Given the description of an element on the screen output the (x, y) to click on. 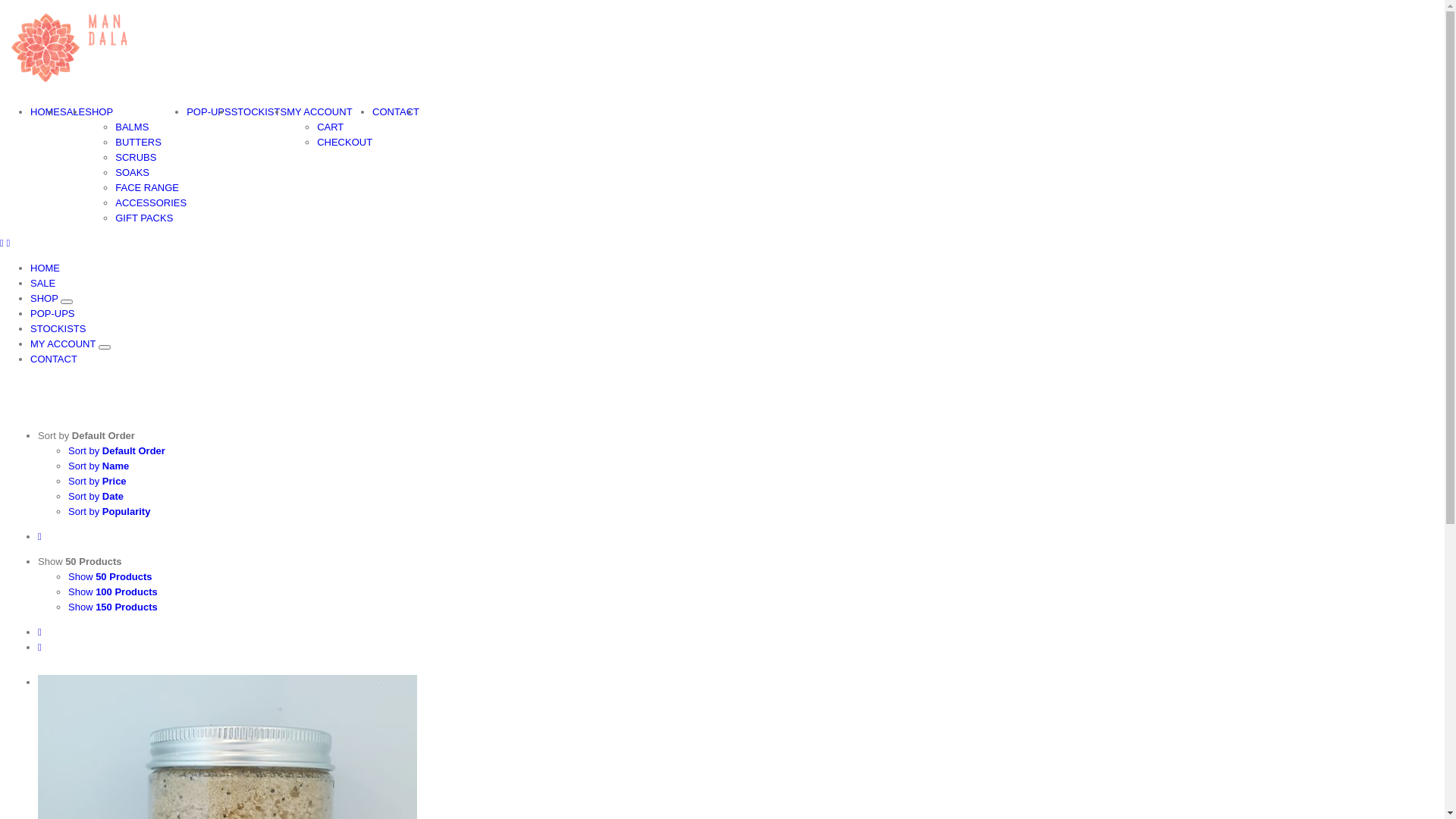
ACCESSORIES Element type: text (150, 202)
BALMS Element type: text (131, 126)
CART Element type: text (329, 126)
GIFT PACKS Element type: text (143, 217)
SCRUBS Element type: text (135, 157)
CONTACT Element type: text (395, 111)
BUTTERS Element type: text (138, 141)
Sort by Date Element type: text (95, 496)
Show 100 Products Element type: text (112, 591)
HOME Element type: text (44, 267)
SOAKS Element type: text (132, 172)
MY ACCOUNT Element type: text (64, 343)
CONTACT Element type: text (53, 358)
STOCKISTS Element type: text (57, 328)
FACE RANGE Element type: text (146, 187)
Sort by Name Element type: text (98, 465)
STOCKISTS Element type: text (258, 111)
SHOP Element type: text (45, 298)
POP-UPS Element type: text (208, 111)
Sort by Default Order Element type: text (116, 450)
Show 150 Products Element type: text (112, 606)
Sort by Price Element type: text (97, 480)
Sort by Default Order Element type: text (85, 435)
Sort by Popularity Element type: text (109, 511)
MY ACCOUNT Element type: text (318, 111)
CHECKOUT Element type: text (344, 141)
SHOP Element type: text (98, 111)
SALE Element type: text (42, 282)
SALE Element type: text (71, 111)
HOME Element type: text (44, 111)
Show 50 Products Element type: text (110, 576)
POP-UPS Element type: text (52, 313)
Show 50 Products Element type: text (79, 561)
